Given the description of an element on the screen output the (x, y) to click on. 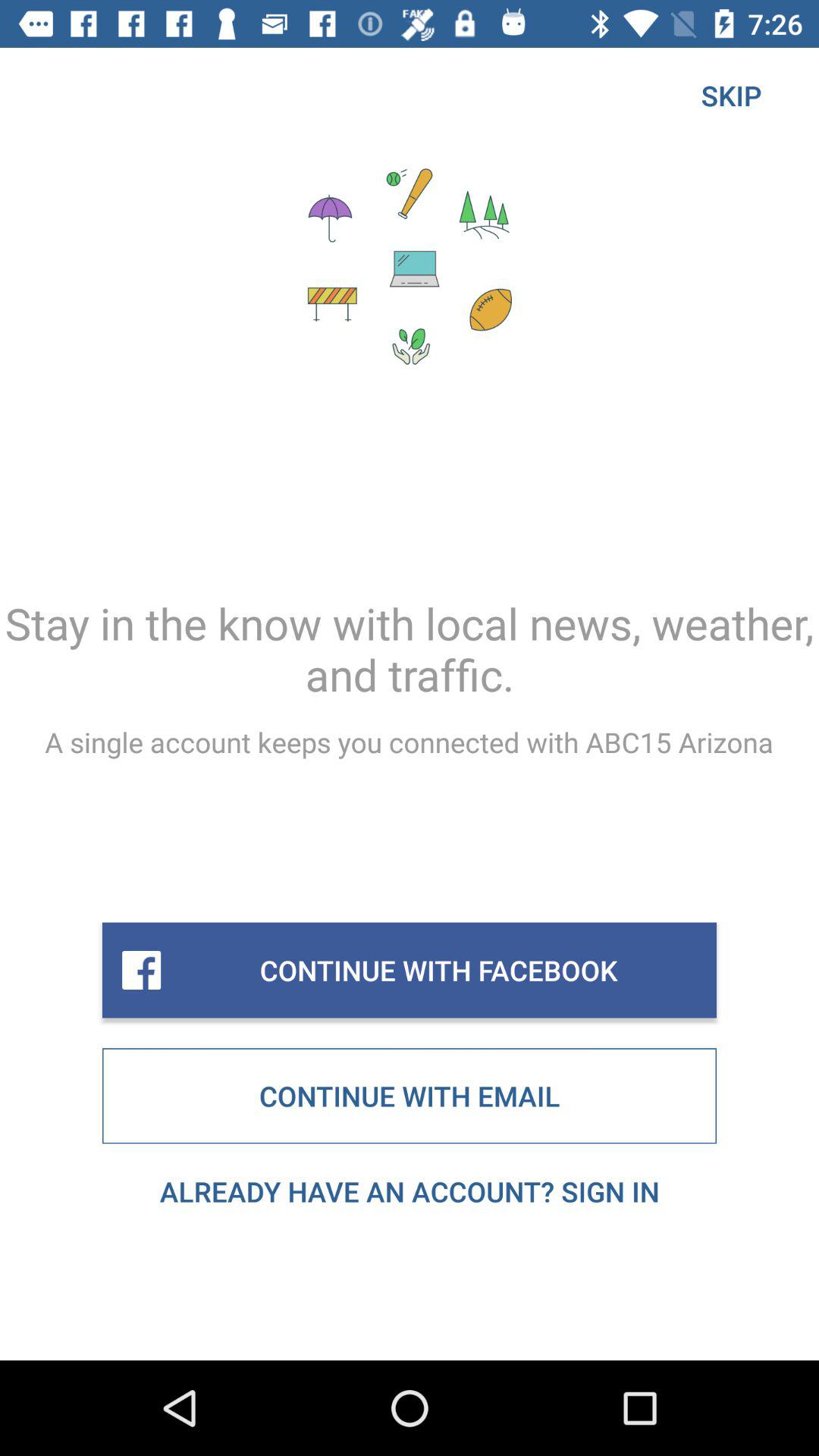
click already have an icon (409, 1191)
